Given the description of an element on the screen output the (x, y) to click on. 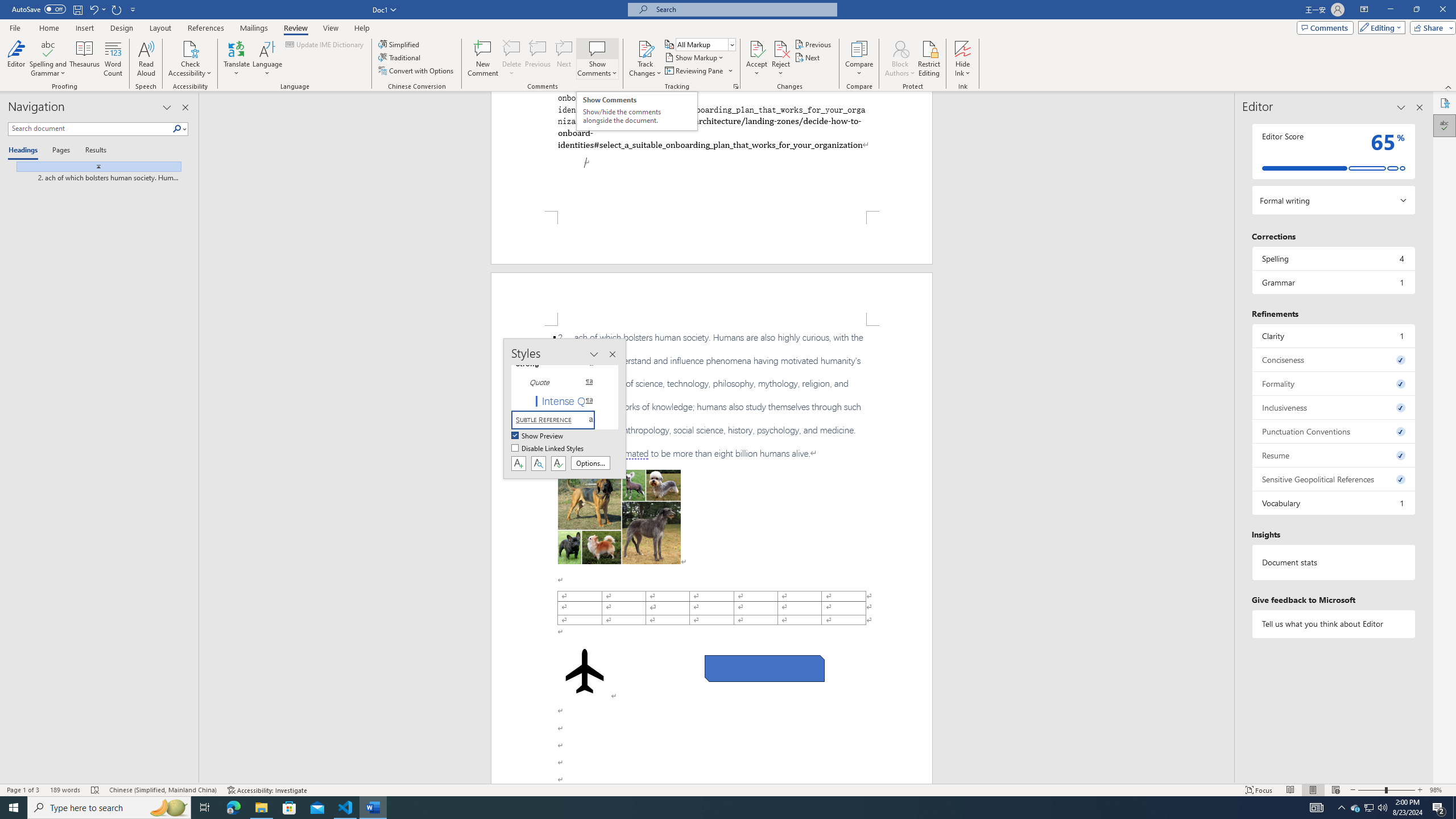
Next (808, 56)
Show Comments (597, 48)
Traditional (400, 56)
Show Markup (695, 56)
Class: NetUIButton (558, 463)
Reject and Move to Next (780, 48)
Undo Style (92, 9)
Show Preview (537, 436)
